Given the description of an element on the screen output the (x, y) to click on. 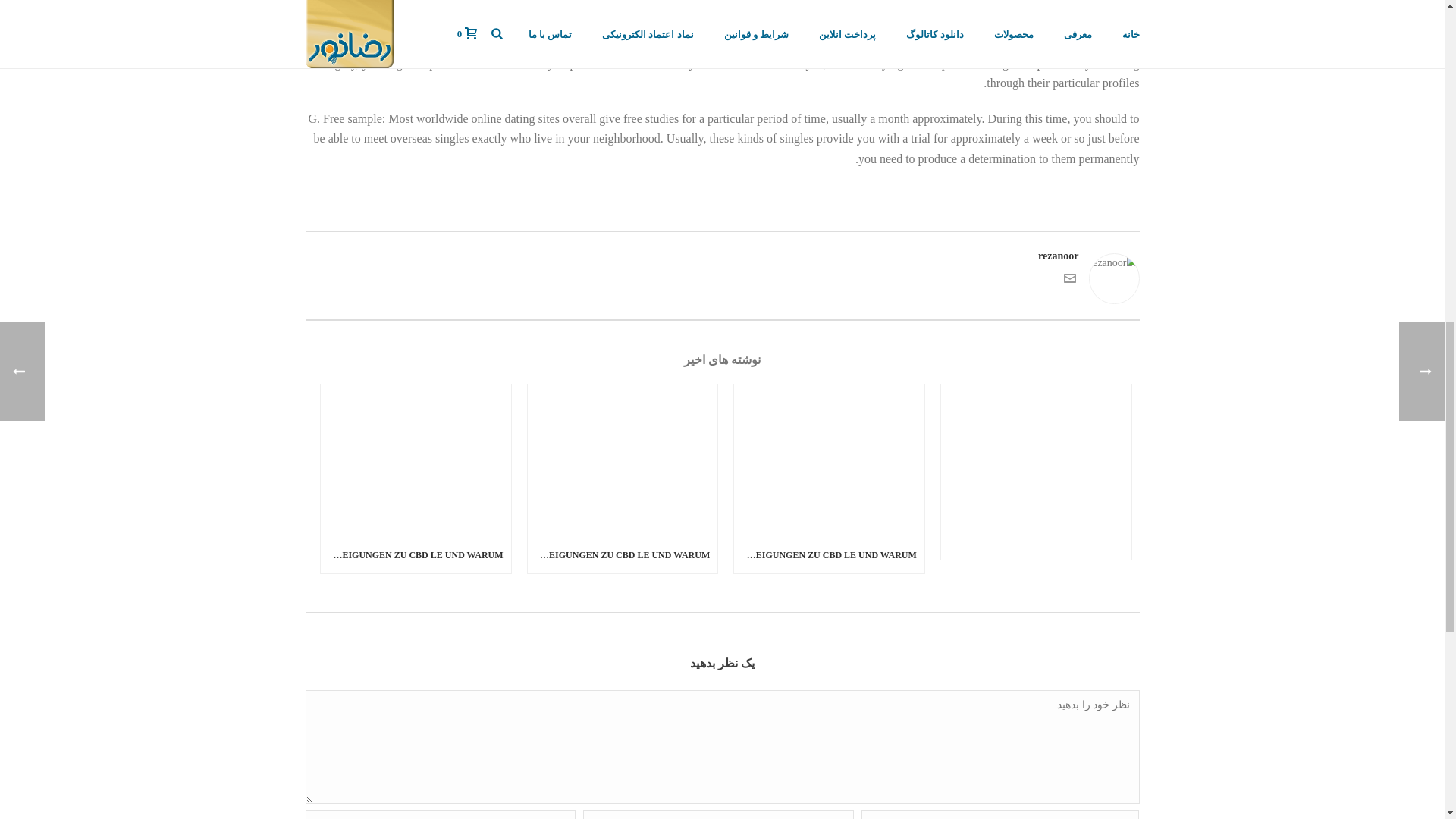
WAS JEDER ABNEIGUNGEN ZU CBD LE UND WARUM (828, 555)
Was Jeder Abneigungen Zu CBD Le und Warum (622, 460)
Was Jeder Abneigungen Zu CBD Le und Warum (415, 460)
Was Jeder Abneigungen Zu CBD Le und Warum (828, 460)
rezanoor (721, 255)
